Given the description of an element on the screen output the (x, y) to click on. 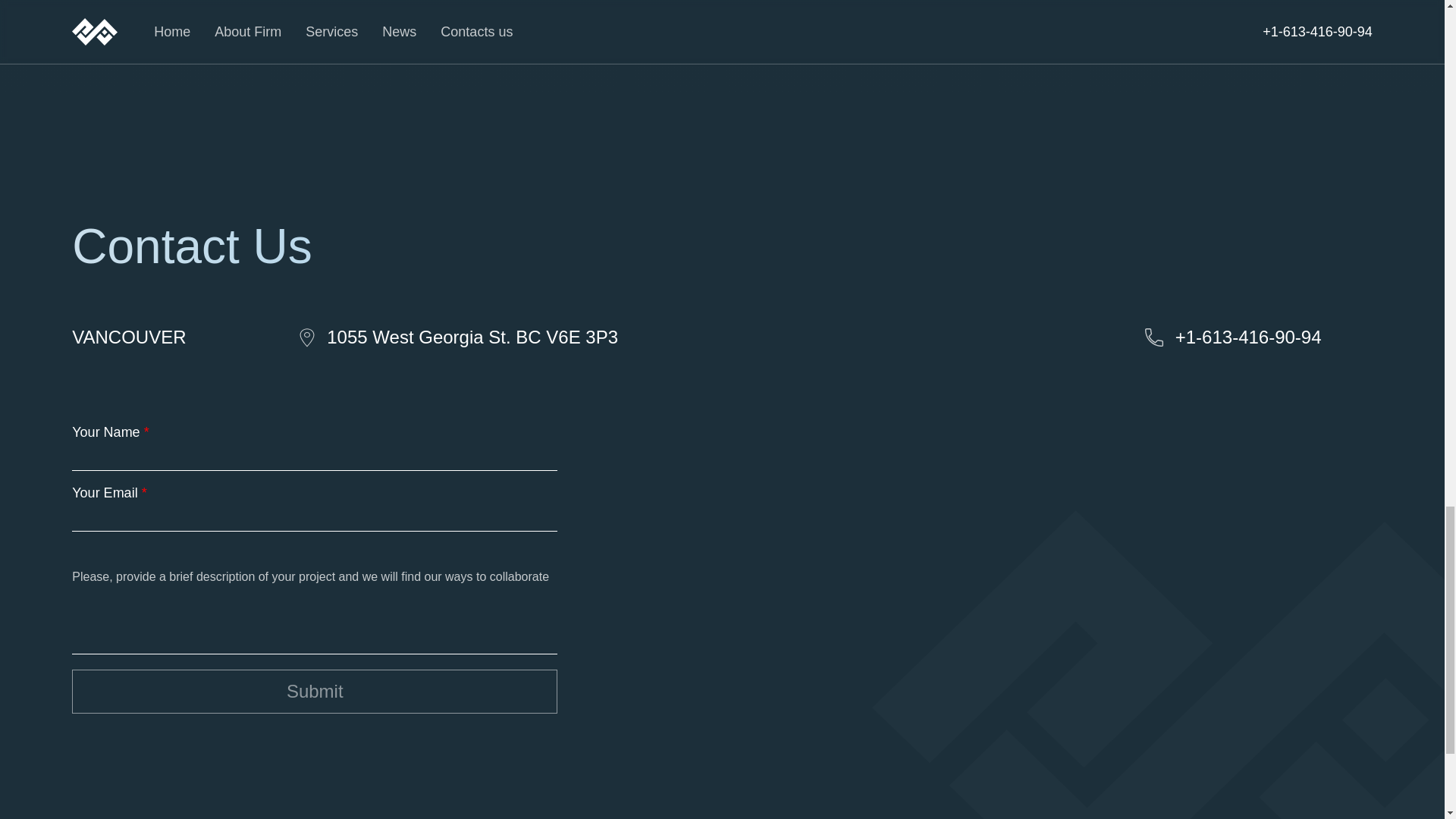
Submit (314, 691)
